Given the description of an element on the screen output the (x, y) to click on. 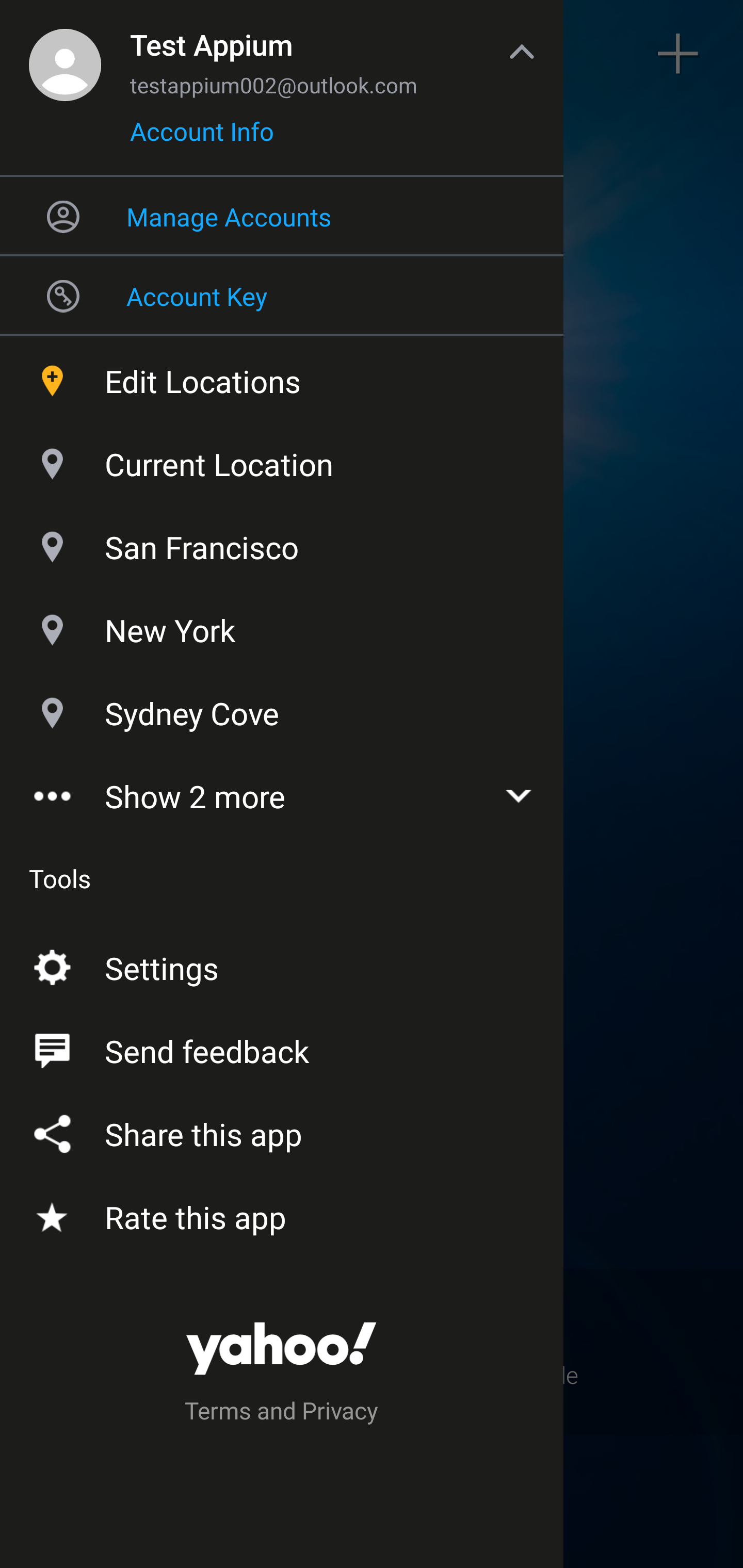
Sidebar (64, 54)
Account Info (202, 137)
Manage Accounts (281, 216)
Account Key (281, 295)
Edit Locations (281, 376)
Current Location (281, 459)
San Francisco (281, 542)
New York (281, 625)
Sydney Cove (281, 709)
Settings (281, 963)
Send feedback (281, 1046)
Share this app (281, 1129)
Terms and Privacy Terms and privacy button (281, 1413)
